Given the description of an element on the screen output the (x, y) to click on. 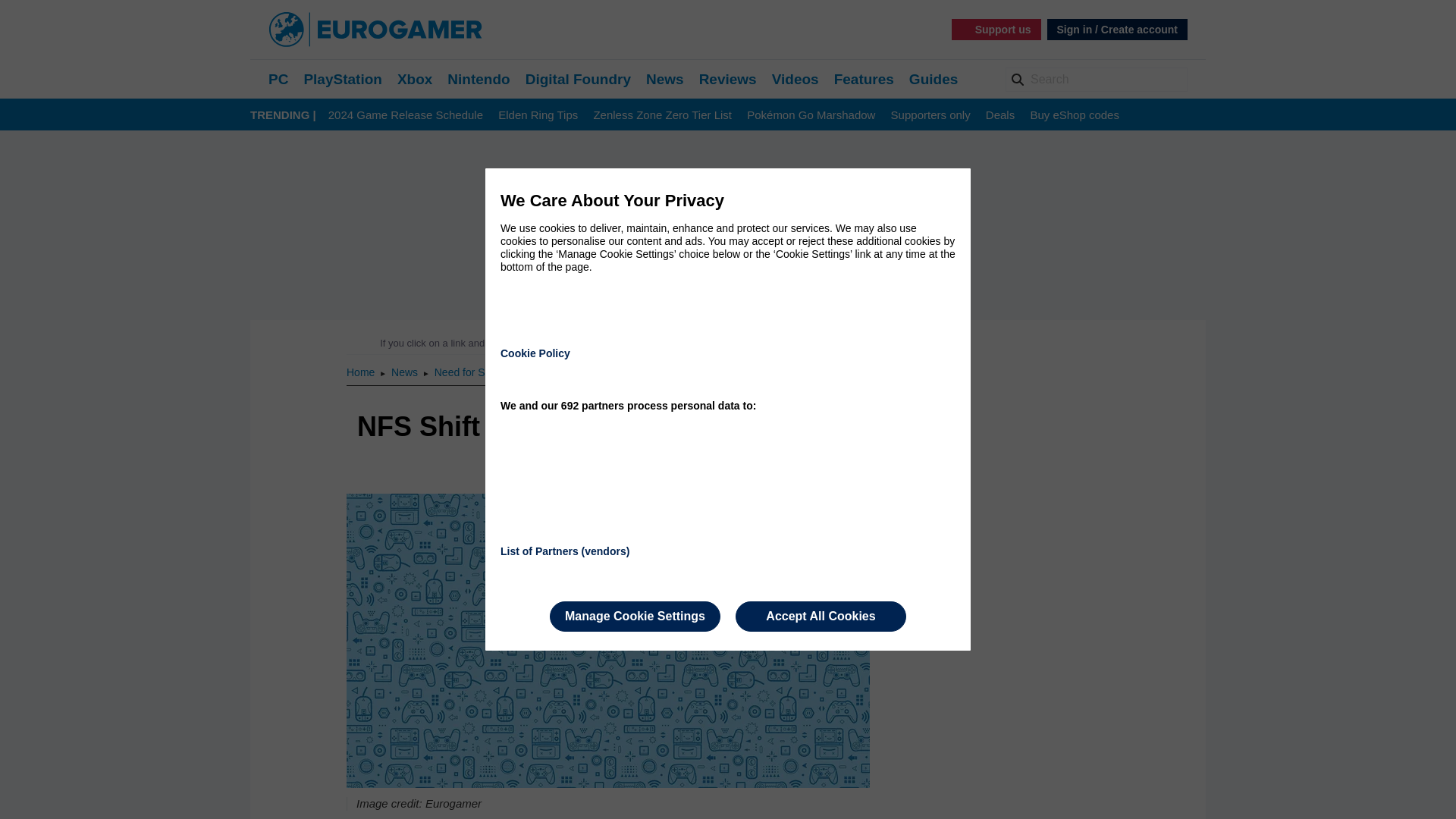
PlayStation (341, 78)
Reviews (727, 78)
Elden Ring Tips (537, 114)
Deals (999, 114)
News (665, 78)
Deals (999, 114)
Support us (996, 29)
Zenless Zone Zero Tier List (662, 114)
Features (863, 78)
Home (361, 372)
Buy eShop codes (1074, 114)
Home (361, 372)
Videos (794, 78)
Features (863, 78)
Supporters only (931, 114)
